Given the description of an element on the screen output the (x, y) to click on. 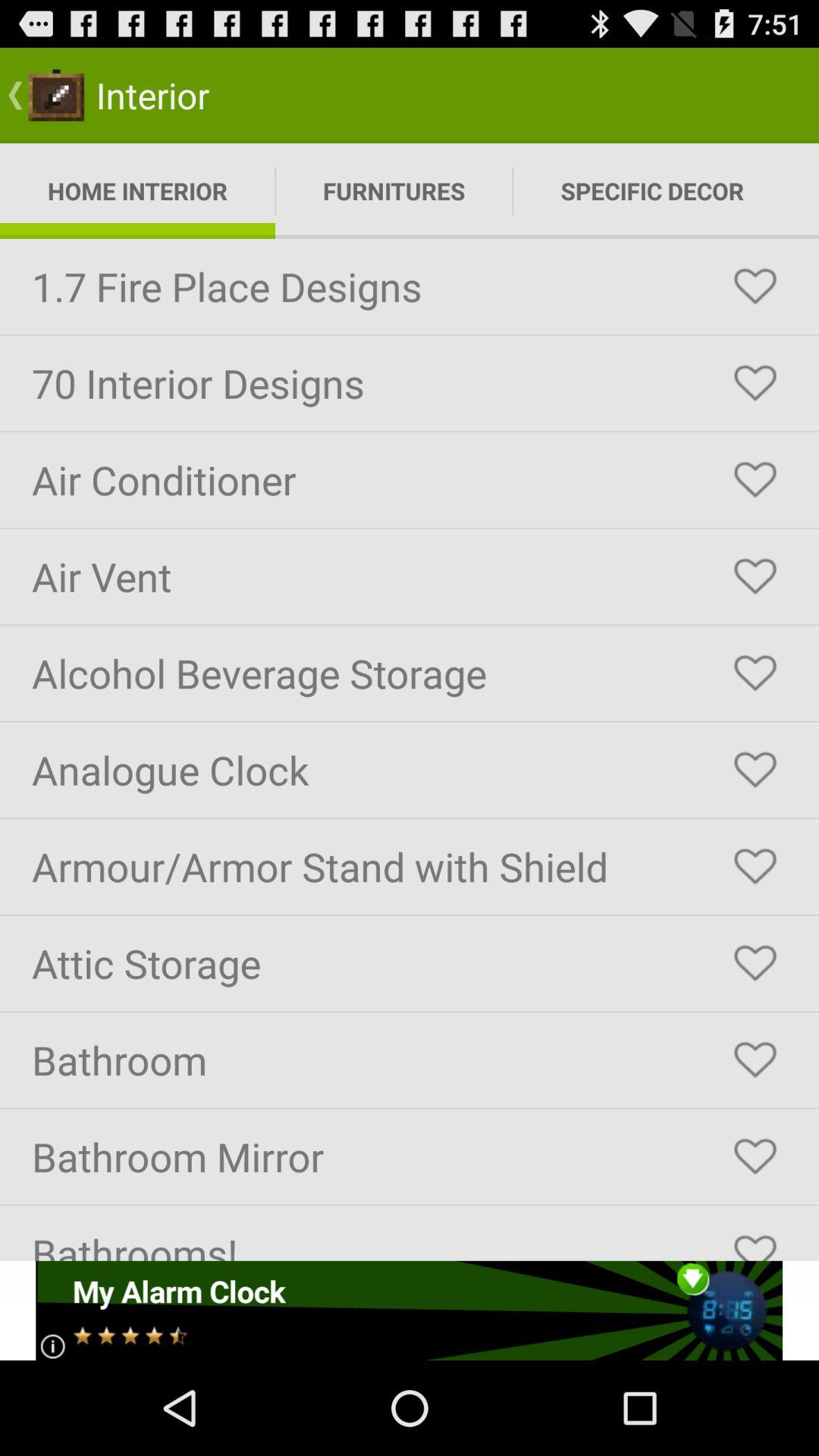
favorite this item (755, 1240)
